Given the description of an element on the screen output the (x, y) to click on. 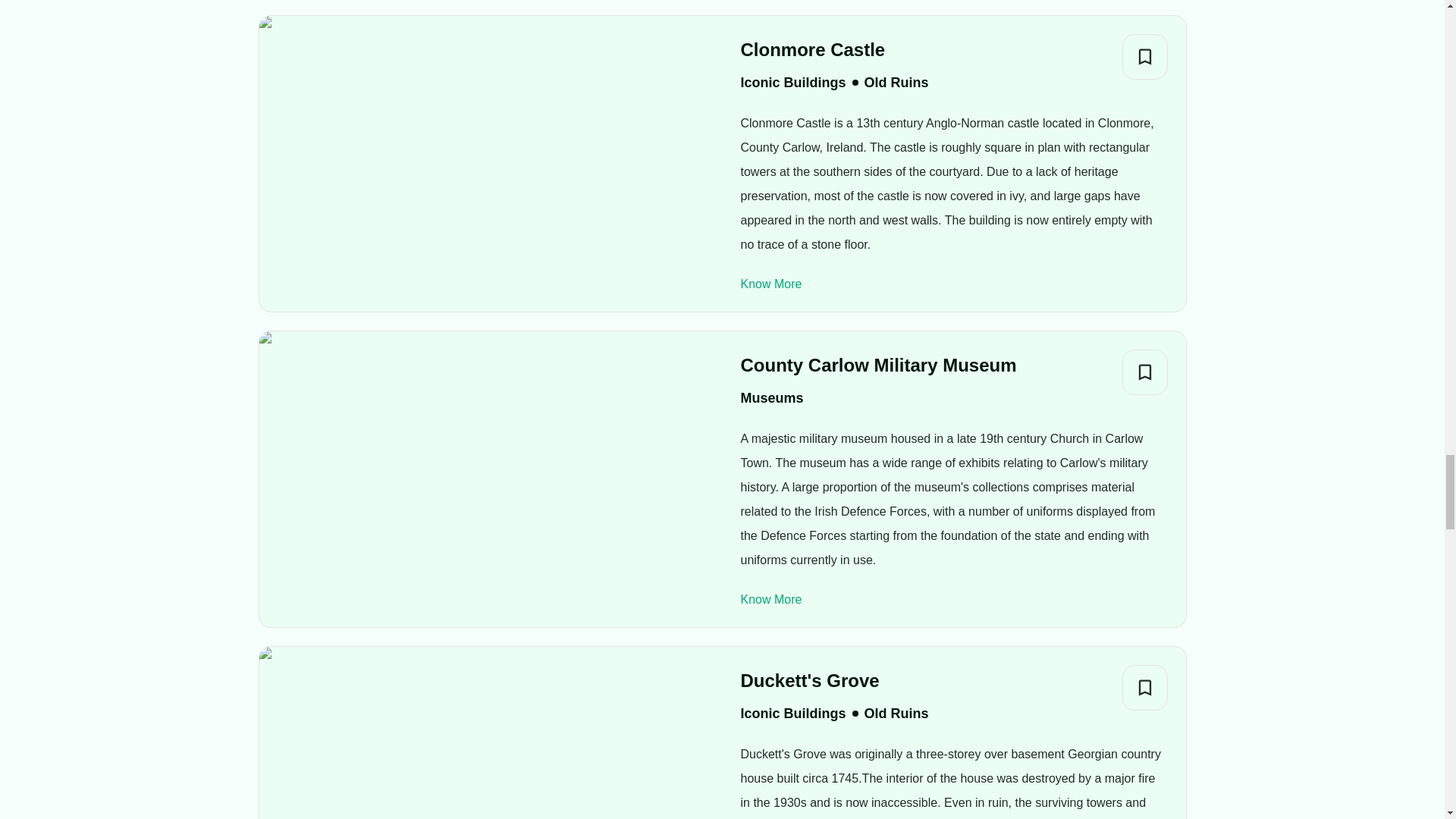
Add to Bucket List (1144, 371)
Add to Bucket List (1144, 687)
Add to Bucket List (1144, 56)
